Given the description of an element on the screen output the (x, y) to click on. 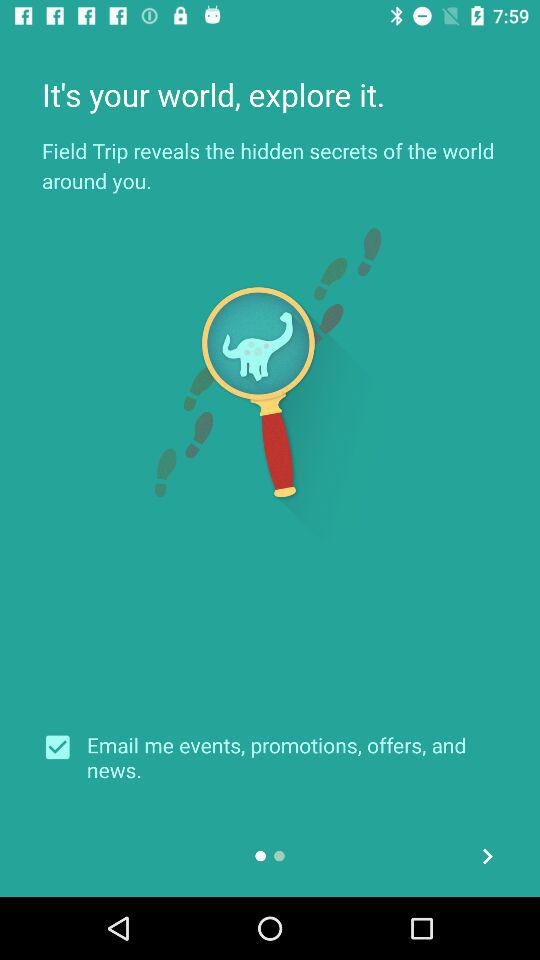
choose item at the bottom left corner (64, 747)
